Given the description of an element on the screen output the (x, y) to click on. 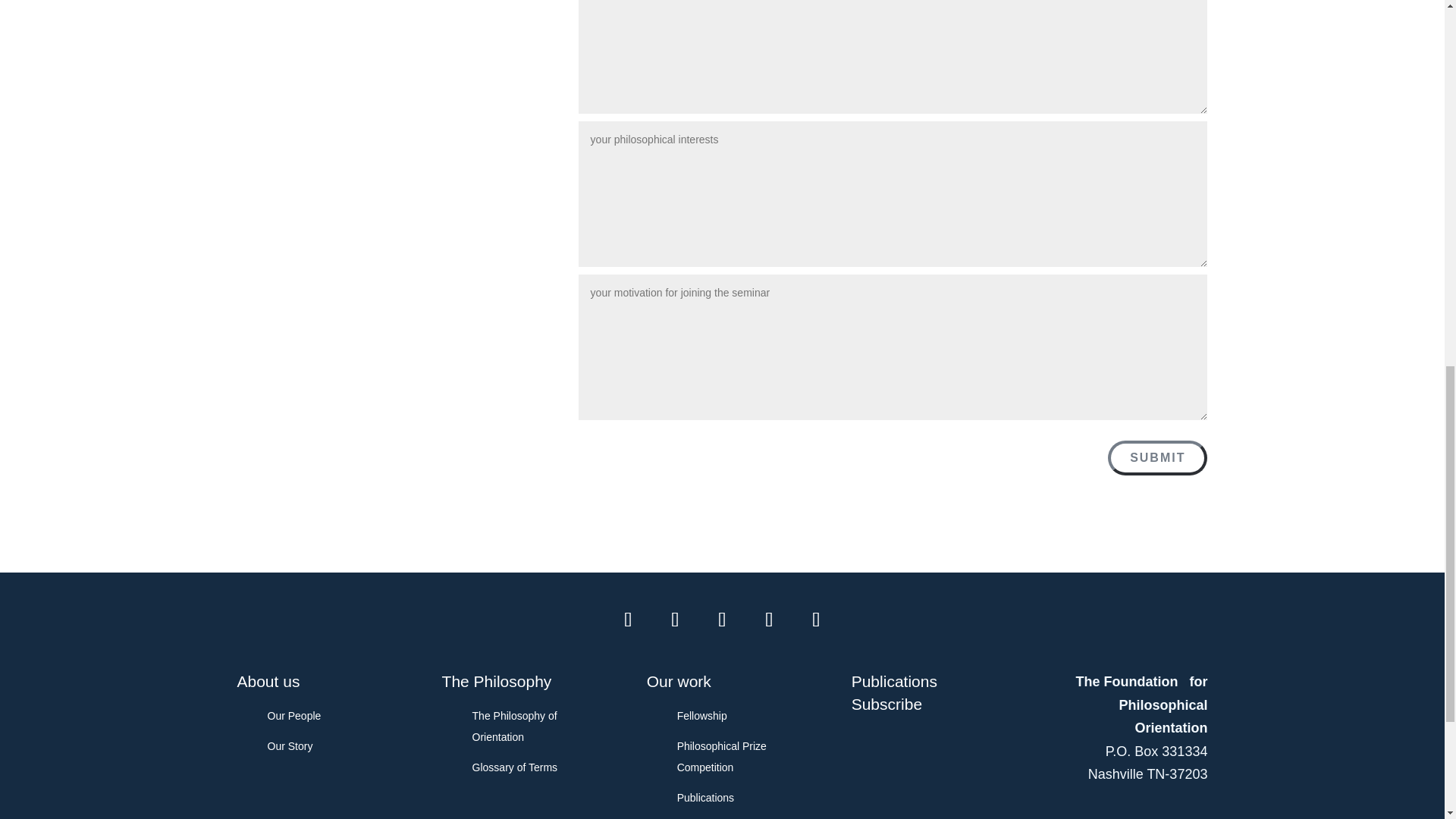
Submit (1157, 457)
The Philosophy of Orientation (532, 726)
Our People (327, 716)
Follow on Instagram (769, 618)
Our work (737, 684)
Our Story (327, 746)
Philosophical Prize Competition (737, 756)
Glossary of Terms (532, 767)
Follow on Facebook (628, 618)
Follow on Youtube (816, 618)
